Given the description of an element on the screen output the (x, y) to click on. 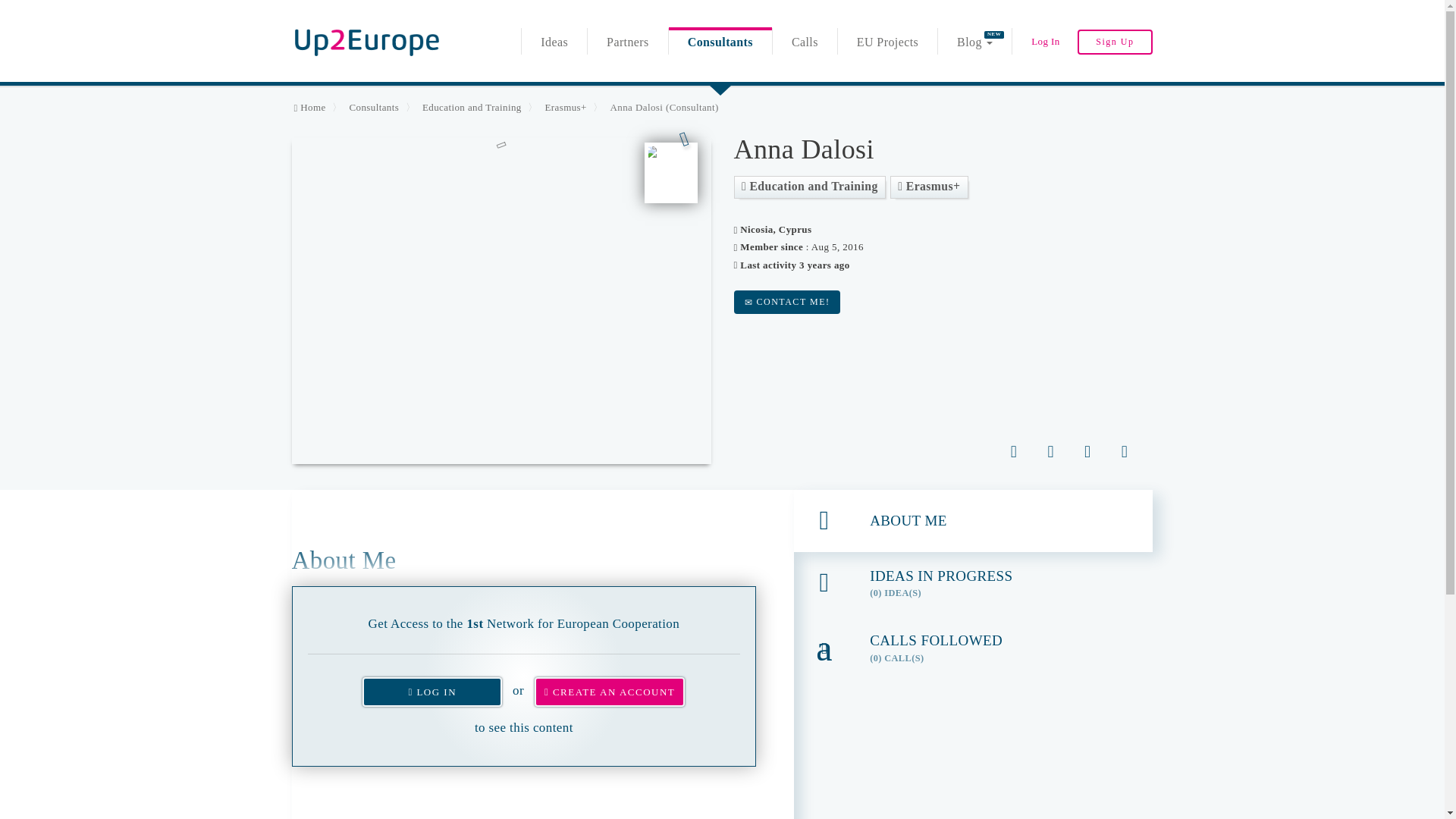
Up2Europe Home  (974, 45)
Share with LinkedIn (366, 40)
Education and Training (1087, 450)
Consultants (471, 107)
Calls (373, 107)
Share with Facebook (804, 45)
Home (1050, 450)
Consultants (310, 107)
Log In (720, 45)
